Given the description of an element on the screen output the (x, y) to click on. 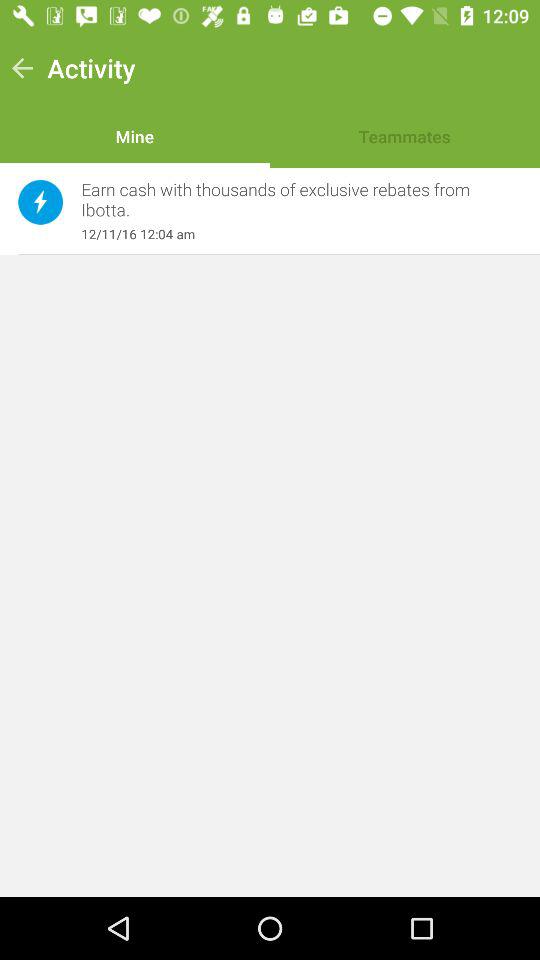
launch the item above the mine item (91, 67)
